Given the description of an element on the screen output the (x, y) to click on. 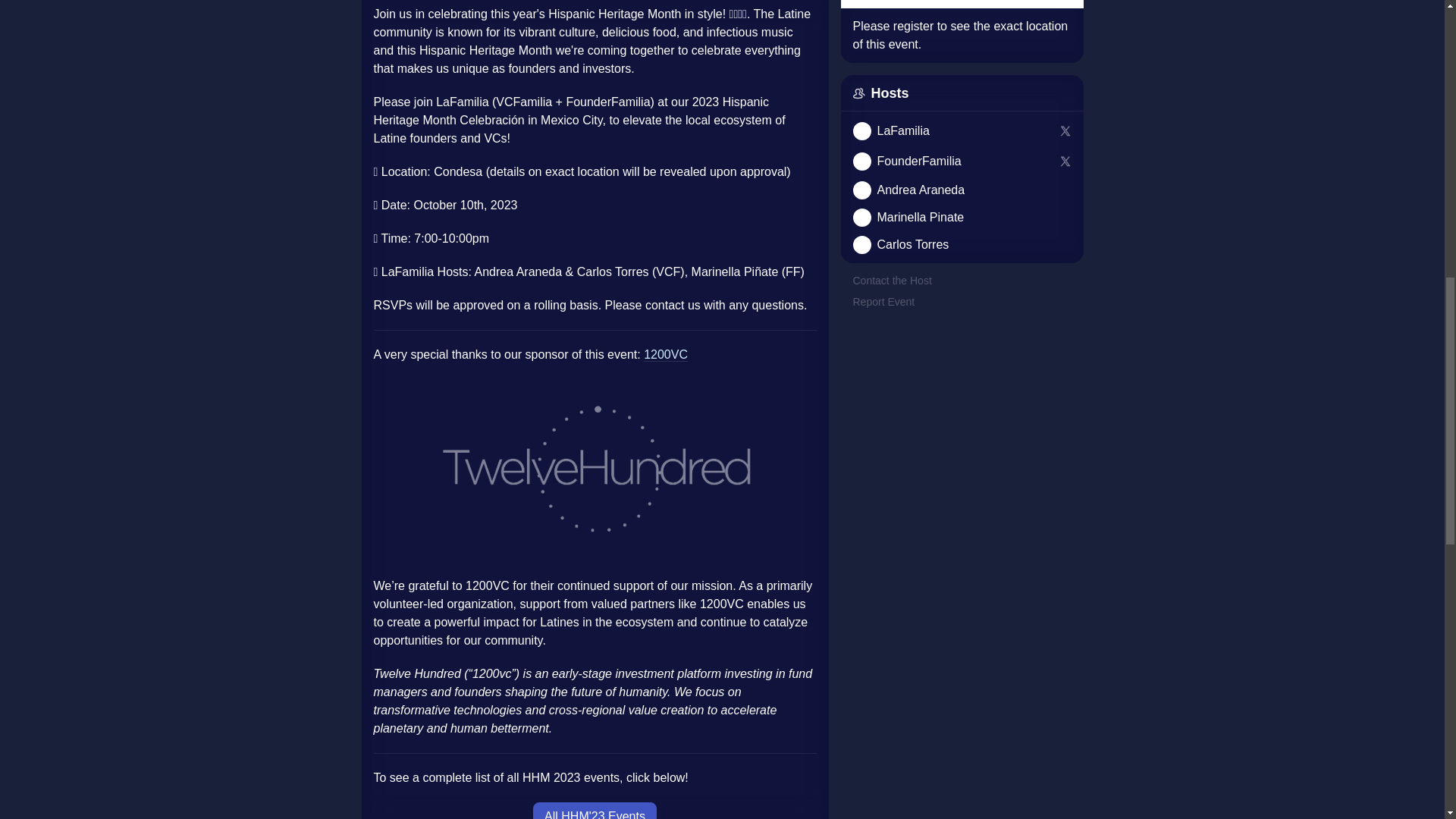
Carlos Torres (912, 244)
Marinella Pinate (919, 217)
Andrea Araneda (919, 189)
LaFamilia (902, 131)
FounderFamilia (951, 161)
1200VC (665, 354)
Report Event (882, 301)
All HHM'23 Events (594, 810)
Contact the Host (891, 280)
Marinella Pinate (960, 217)
